Given the description of an element on the screen output the (x, y) to click on. 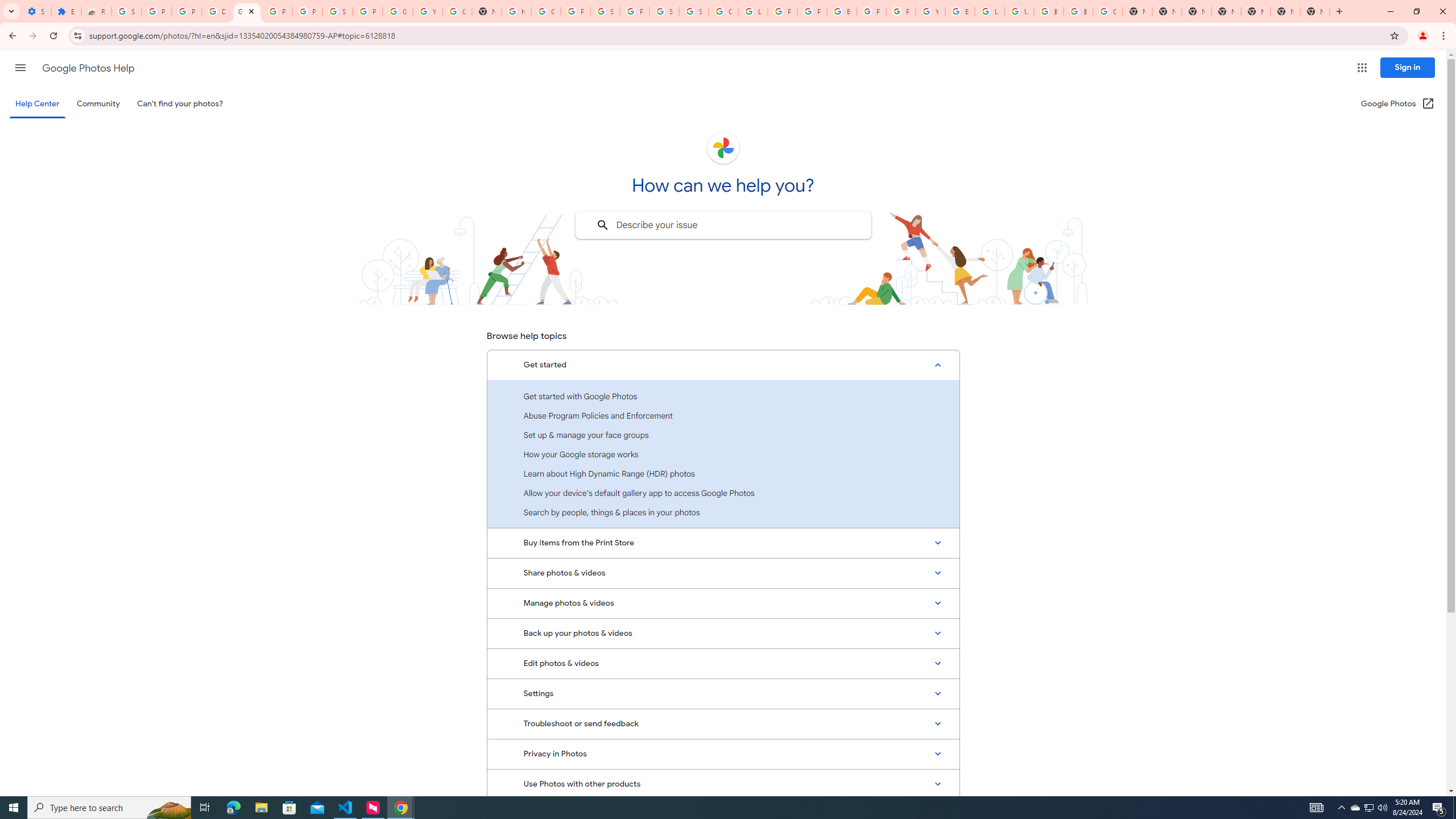
How your Google storage works (722, 454)
Reviews: Helix Fruit Jump Arcade Game (95, 11)
